Given the description of an element on the screen output the (x, y) to click on. 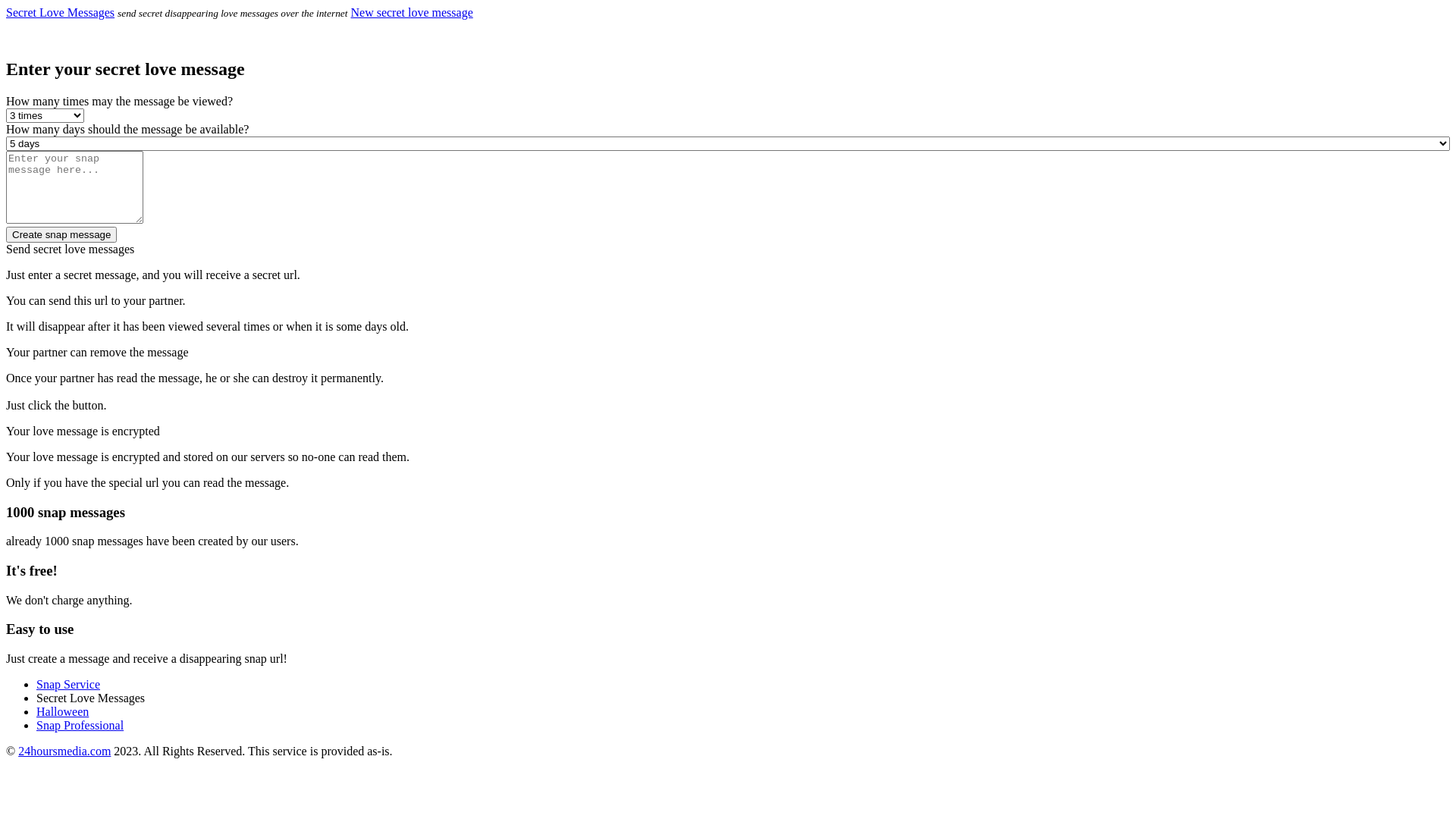
Create snap message Element type: text (61, 234)
Snap Service Element type: text (68, 683)
New secret love message Element type: text (411, 12)
Secret Love Messages Element type: text (60, 12)
Halloween Element type: text (62, 711)
24hoursmedia.com Element type: text (64, 750)
Snap Professional Element type: text (79, 724)
